Given the description of an element on the screen output the (x, y) to click on. 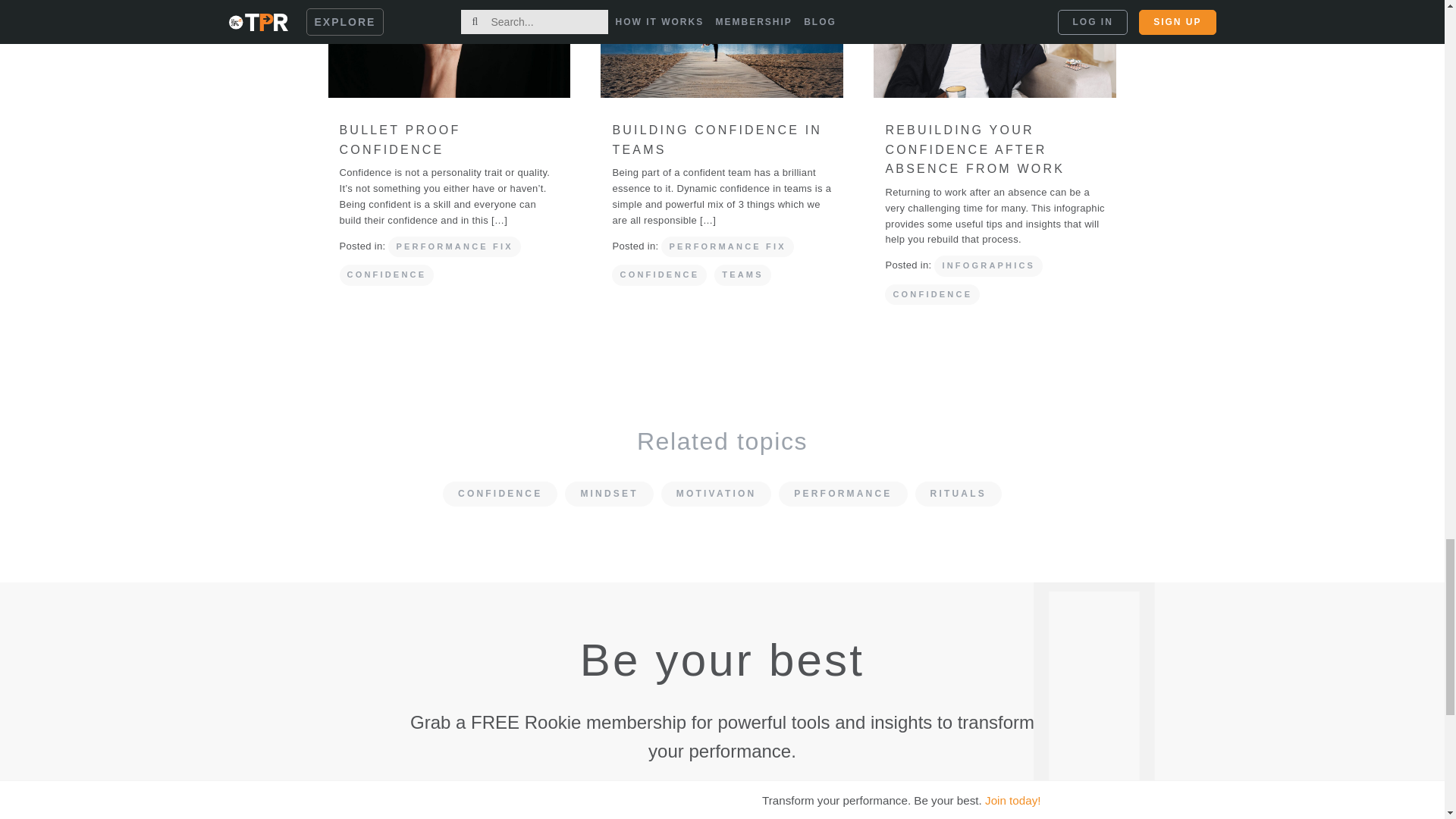
Let's get started (868, 804)
